Given the description of an element on the screen output the (x, y) to click on. 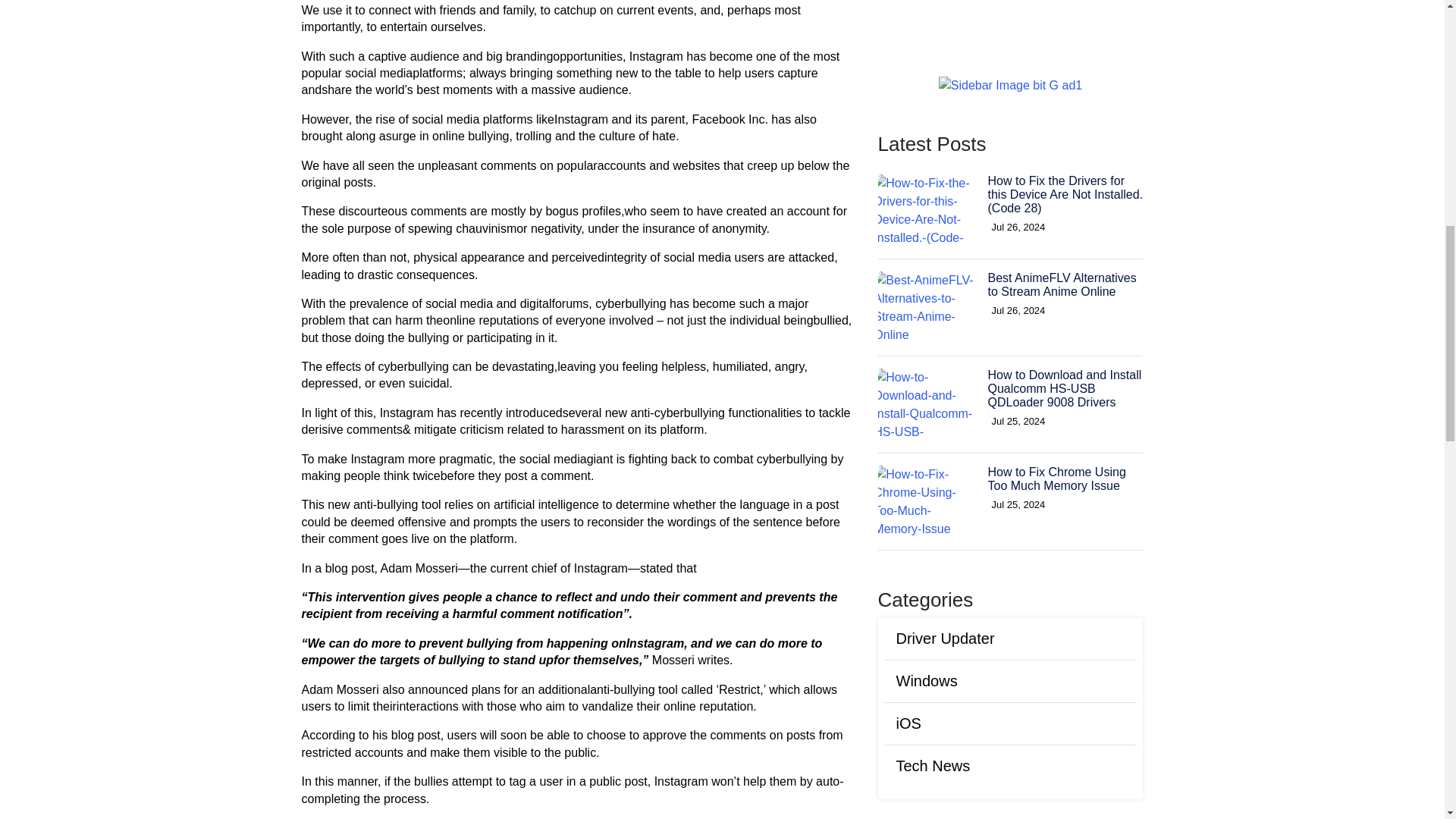
Best AnimeFLV Alternatives to Stream Anime Online (1061, 164)
